Given the description of an element on the screen output the (x, y) to click on. 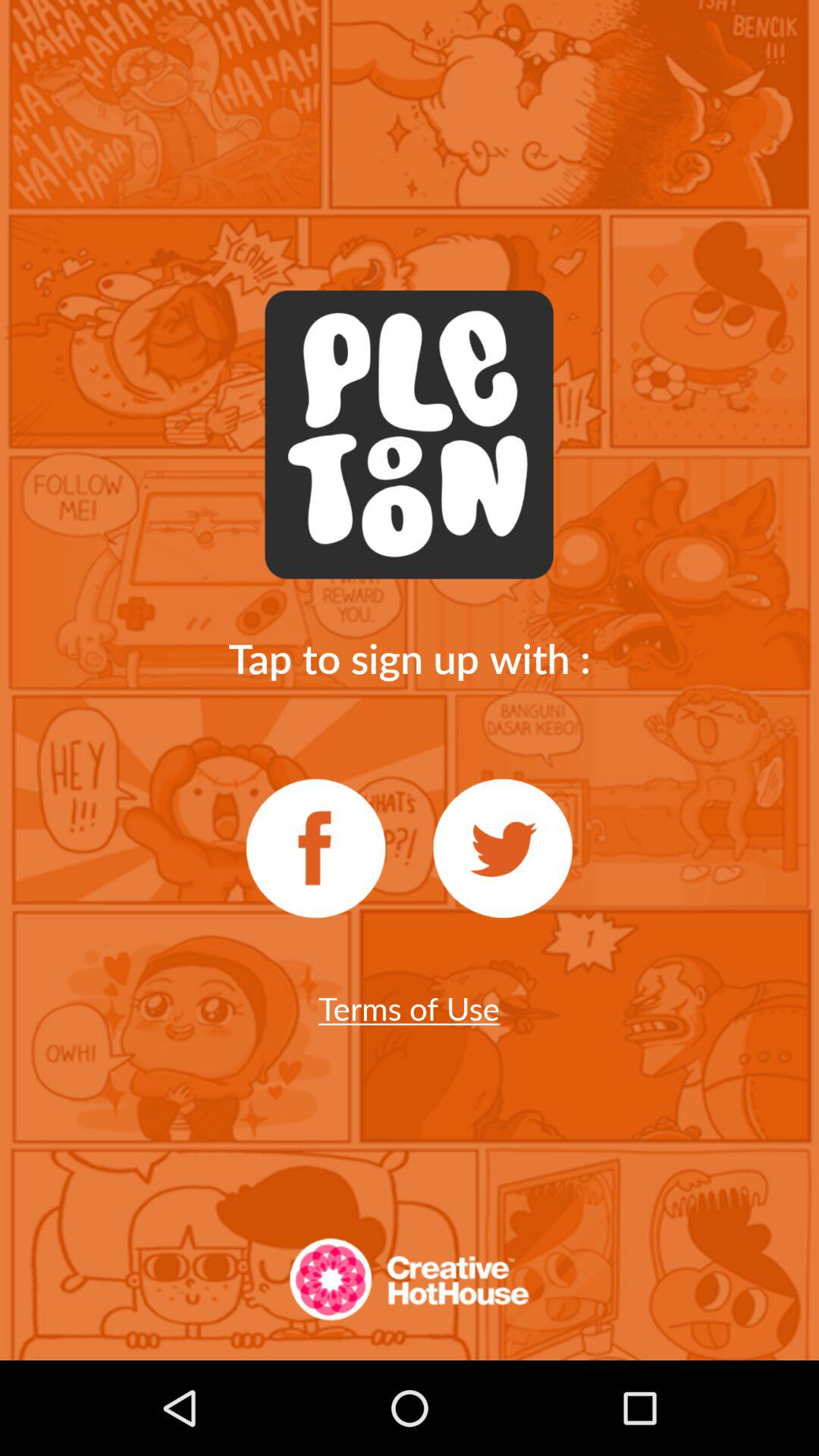
for twitter (502, 848)
